Given the description of an element on the screen output the (x, y) to click on. 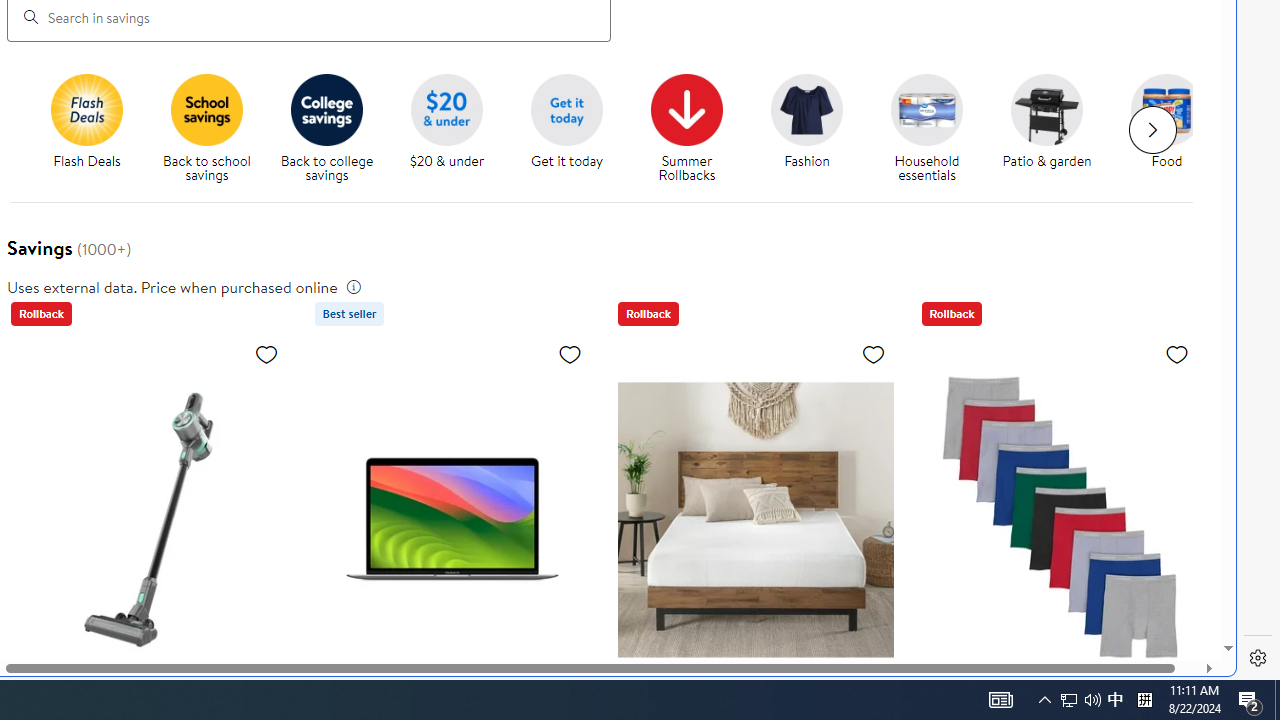
Food Food (1166, 122)
Back to College savings (326, 109)
Household essentials (934, 128)
Patio & garden (1046, 109)
Get it today Get it today (566, 122)
Summer Rollbacks (687, 109)
$20 & under (454, 128)
$20 and under $20 & under (447, 122)
Household essentials Household essentials (927, 128)
Hanes Men's Super Value Pack Assorted Boxer Briefs, 10 Pack (1058, 519)
Summer Rollbacks Summer Rollbacks (686, 128)
legal information (353, 286)
Patio & garden Patio & garden (1046, 122)
Back to School savings (207, 109)
